Given the description of an element on the screen output the (x, y) to click on. 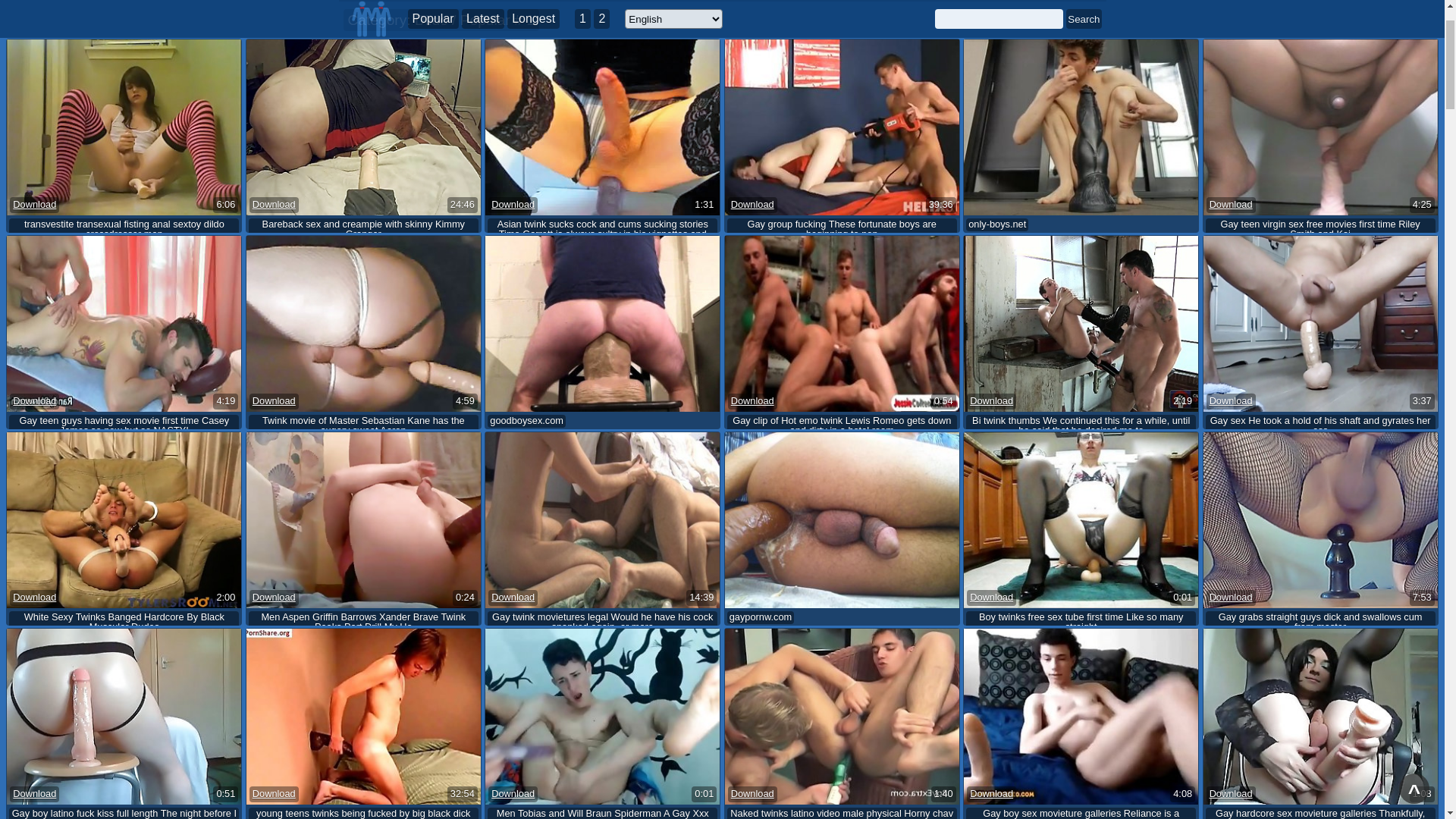
Download Element type: text (752, 295)
Download Element type: text (34, 688)
Download Element type: text (34, 491)
Download Element type: text (512, 295)
Download Element type: text (273, 295)
Download Element type: text (512, 688)
Download Element type: text (752, 491)
Download Element type: text (273, 688)
Download Element type: text (991, 688)
goodboysex.com Element type: text (526, 511)
Popular Element type: text (432, 109)
1 Element type: text (582, 109)
Popular Latest Longest Element type: text (483, 109)
Download Element type: text (34, 295)
Download Element type: text (1230, 295)
Latest Element type: text (482, 109)
Download Element type: text (991, 491)
Download Element type: text (273, 491)
Search Element type: text (1083, 109)
gaypornw.com Element type: text (760, 707)
Download Element type: text (1230, 491)
Download Element type: text (1230, 688)
2 Element type: text (601, 109)
Longest Element type: text (533, 109)
only-boys.net Element type: text (997, 314)
